Given the description of an element on the screen output the (x, y) to click on. 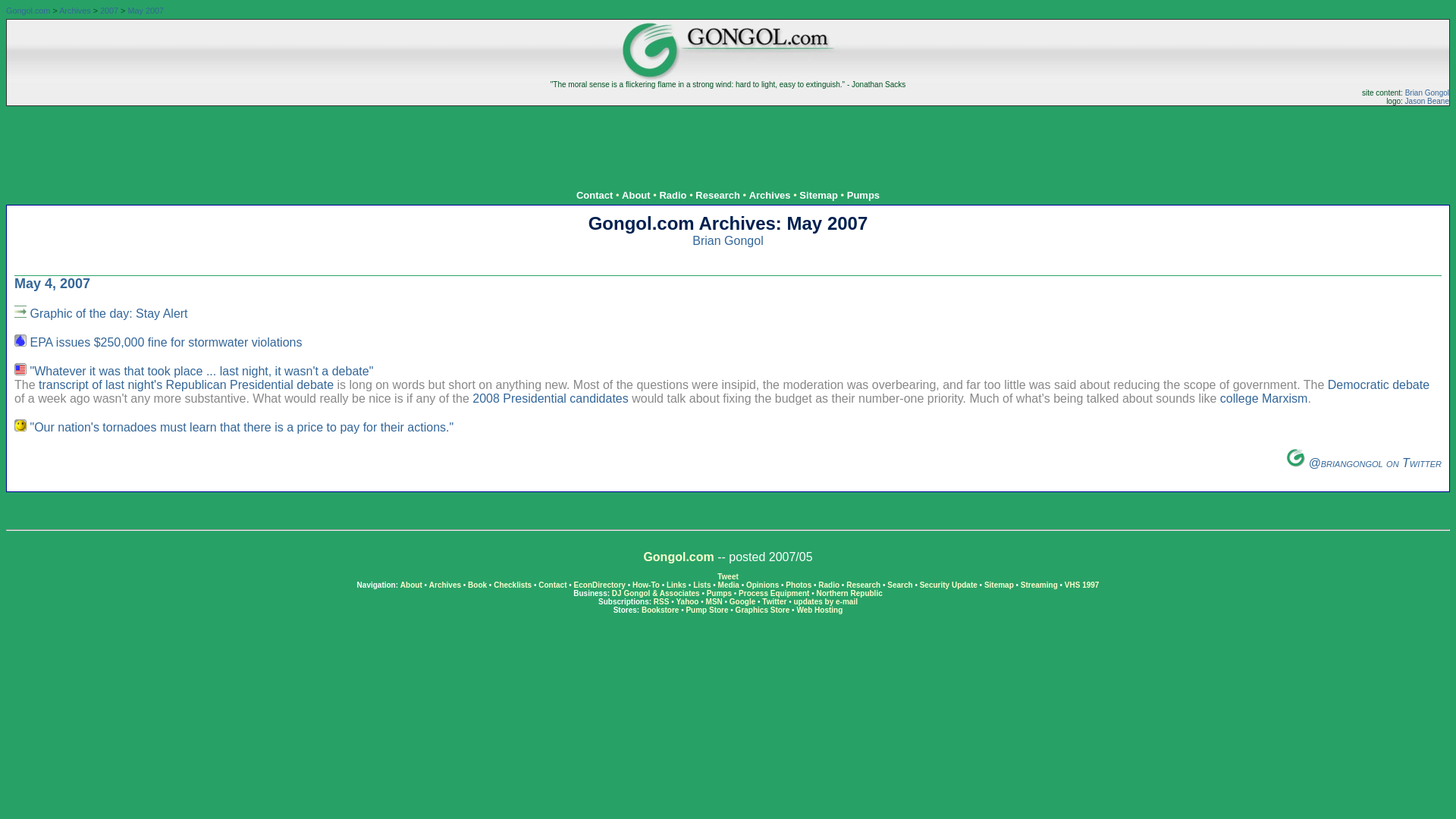
Advertisement (727, 139)
May 4, 2007 (52, 283)
2007 (108, 10)
Democratic debate (1378, 384)
Graphic of the day: Stay Alert (108, 313)
May 2007 (145, 10)
Archives (445, 584)
Archives (769, 194)
transcript of last night's Republican Presidential debate (186, 384)
EconDirectory (599, 584)
Contact (594, 194)
About (411, 584)
Archives (74, 10)
2008 Presidential candidates (549, 398)
